Given the description of an element on the screen output the (x, y) to click on. 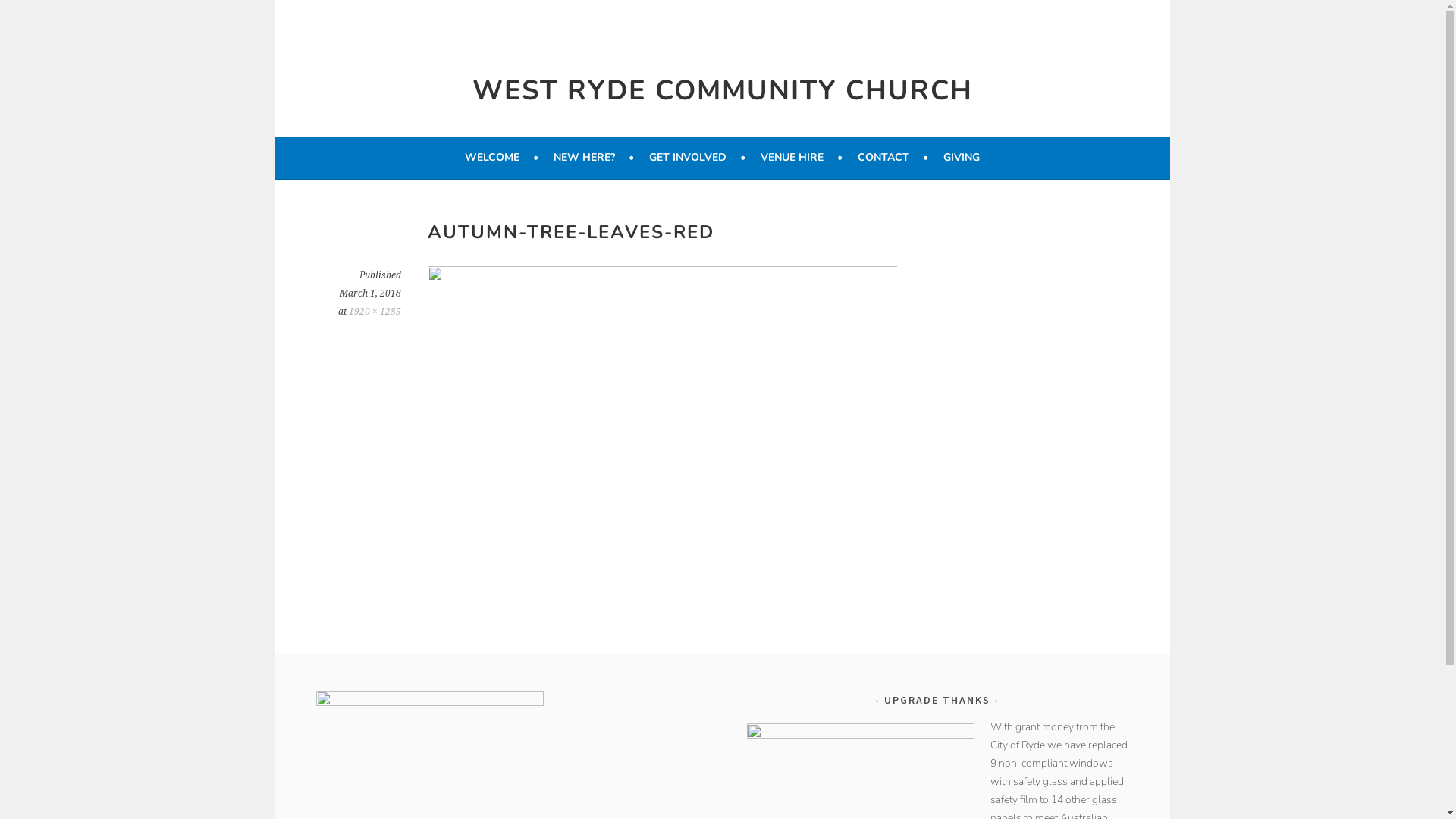
NEW HERE? Element type: text (593, 157)
WEST RYDE COMMUNITY CHURCH Element type: text (721, 90)
VENUE HIRE Element type: text (801, 157)
autumn-tree-leaves-red Element type: hover (662, 276)
WELCOME Element type: text (501, 157)
CONTACT Element type: text (892, 157)
GET INVOLVED Element type: text (697, 157)
GIVING Element type: text (961, 157)
